Given the description of an element on the screen output the (x, y) to click on. 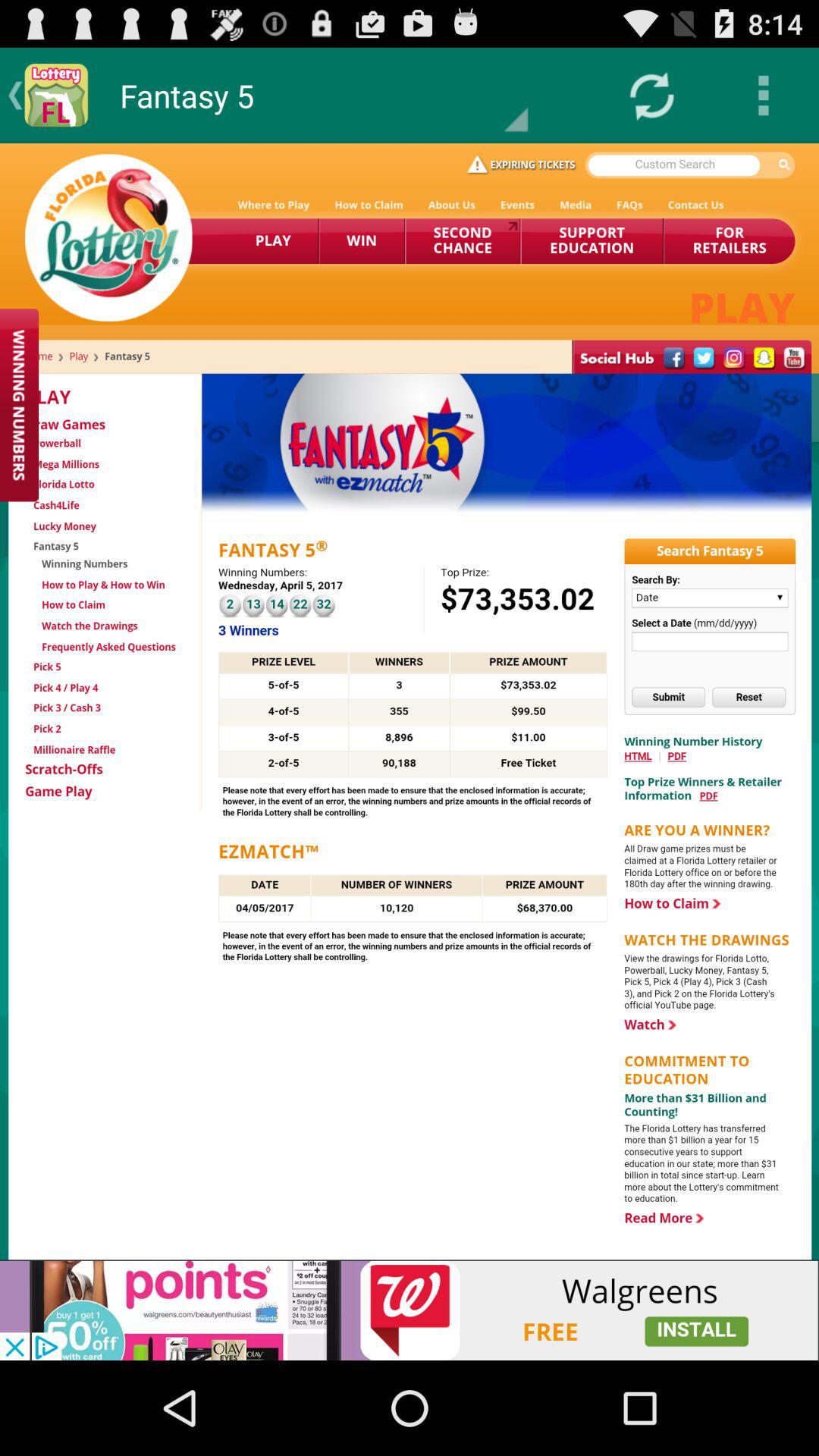
go to the advertisement (409, 1310)
